Given the description of an element on the screen output the (x, y) to click on. 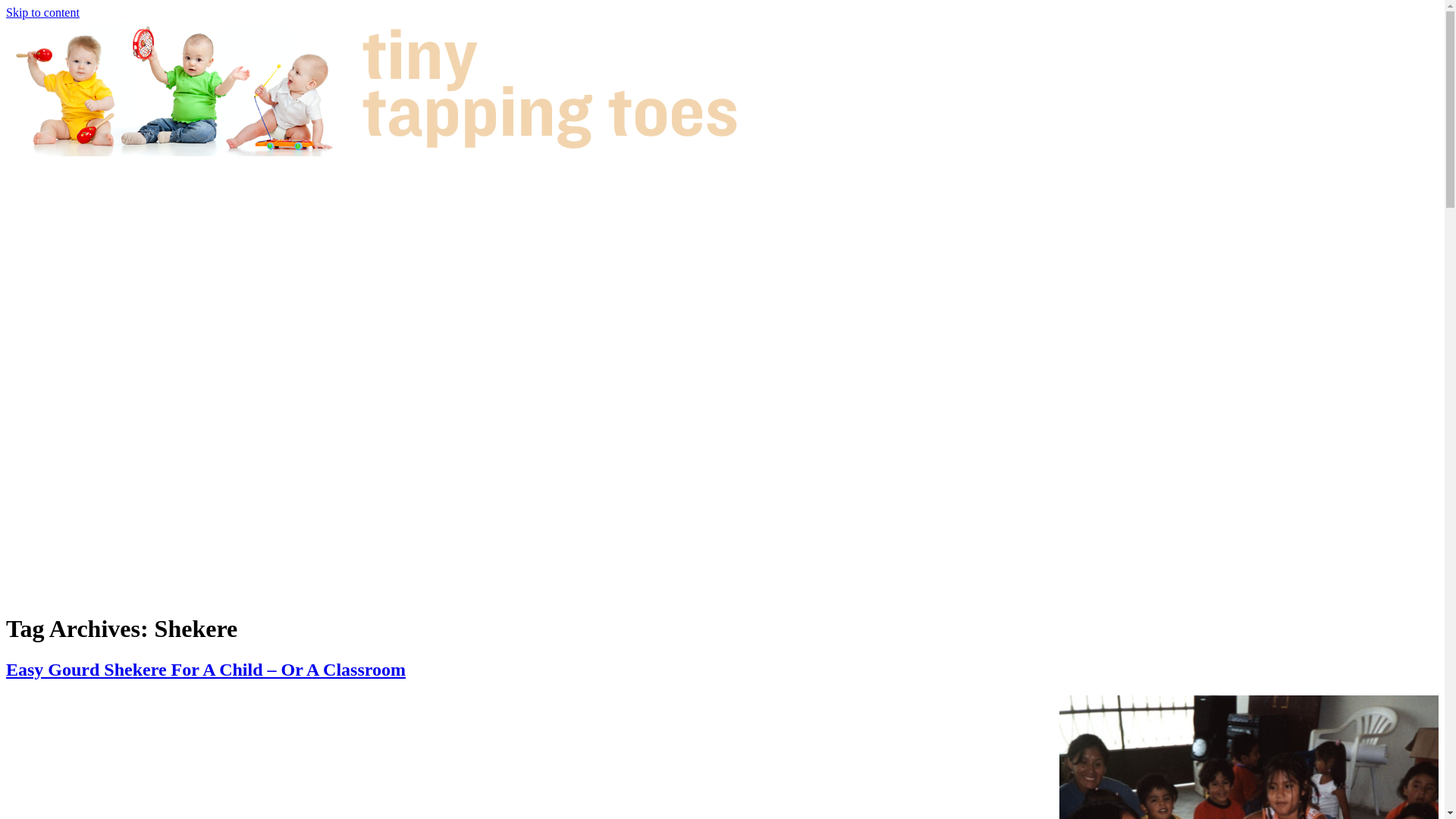
Skip to content (42, 11)
Skip to content (42, 11)
